Given the description of an element on the screen output the (x, y) to click on. 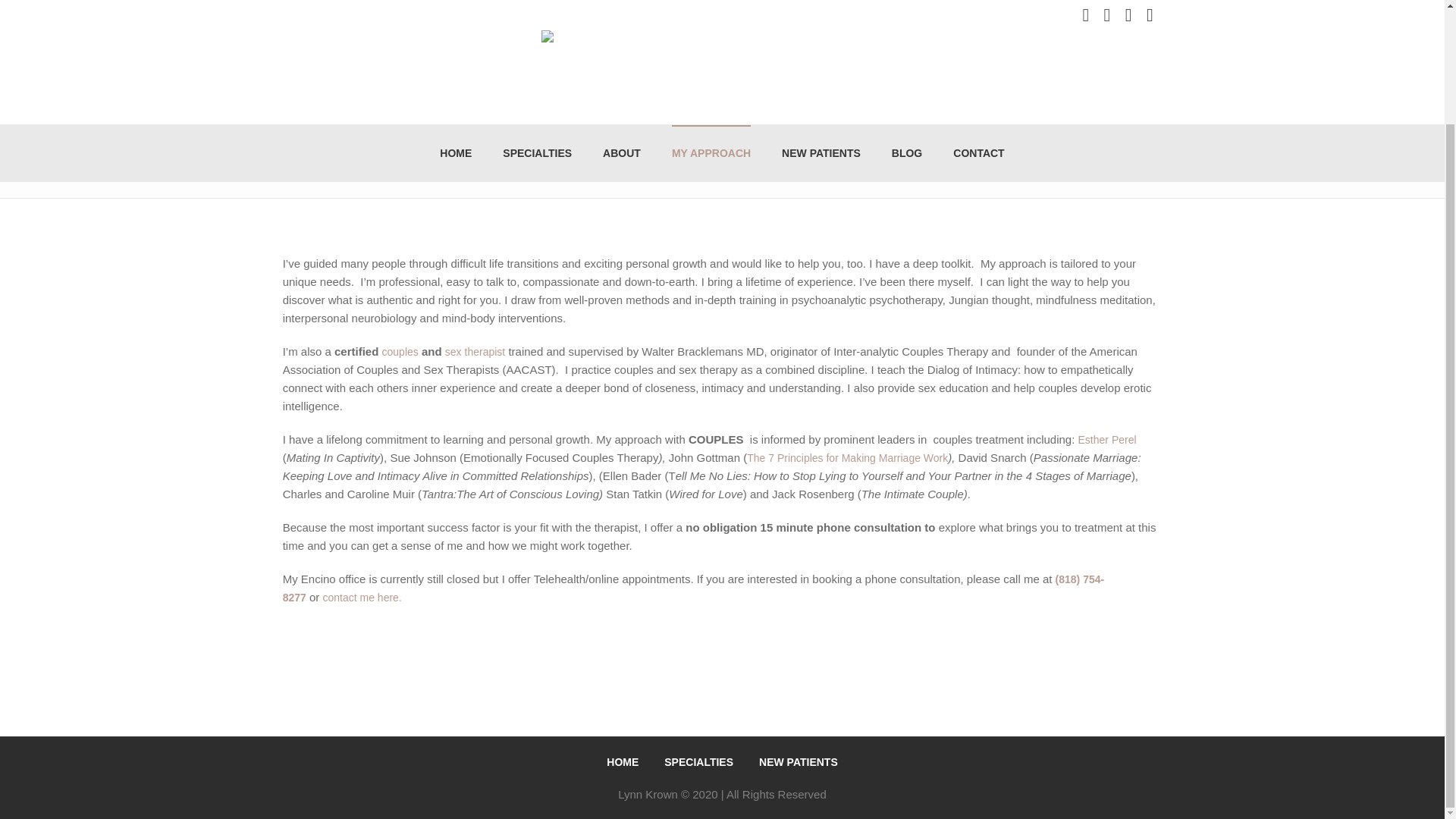
HOME (455, 22)
CONTACT (978, 22)
HOME (623, 761)
The 7 Principles for Making Marriage Work (846, 458)
Esther Perel (1107, 439)
SPECIALTIES (698, 761)
NEW PATIENTS (798, 761)
contact me here. (362, 597)
ABOUT (622, 22)
NEW PATIENTS (821, 22)
